Given the description of an element on the screen output the (x, y) to click on. 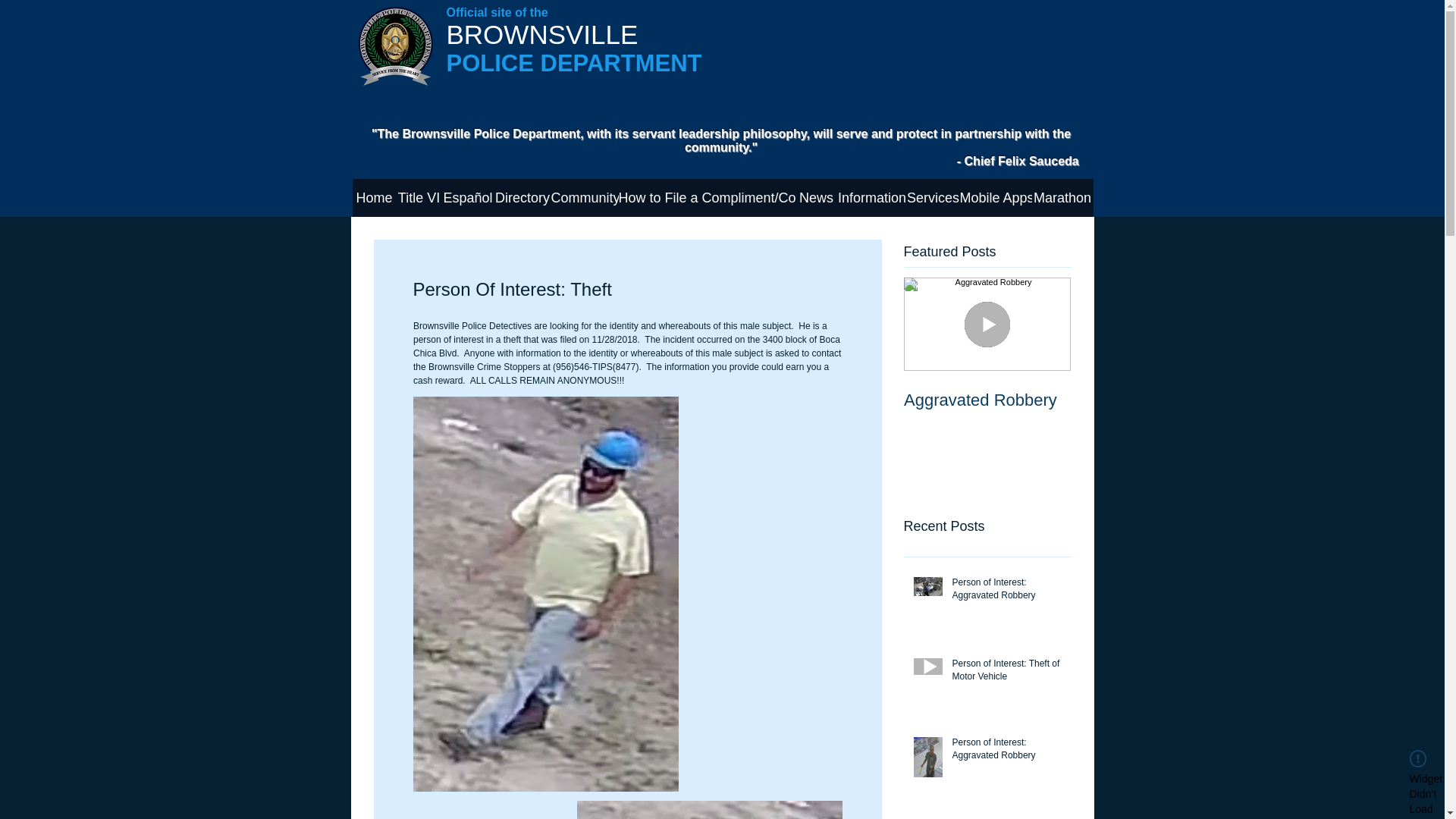
Marathon (1061, 198)
Directory (523, 198)
News (815, 198)
Title VI (418, 198)
Mobile Apps (995, 198)
Community (583, 198)
Home (374, 198)
